Given the description of an element on the screen output the (x, y) to click on. 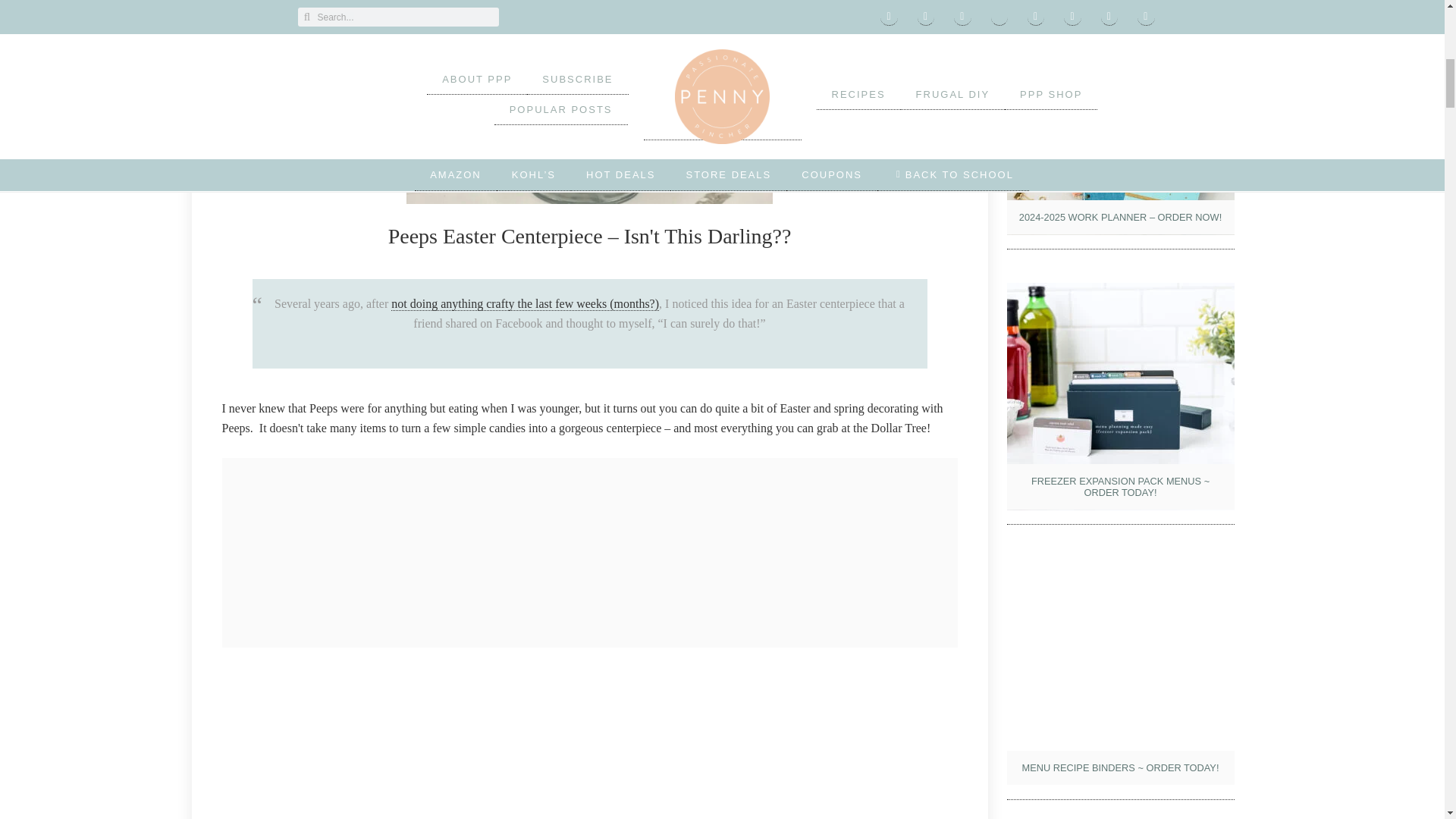
Work Planner - Order Now! (1120, 121)
easter (589, 737)
